Given the description of an element on the screen output the (x, y) to click on. 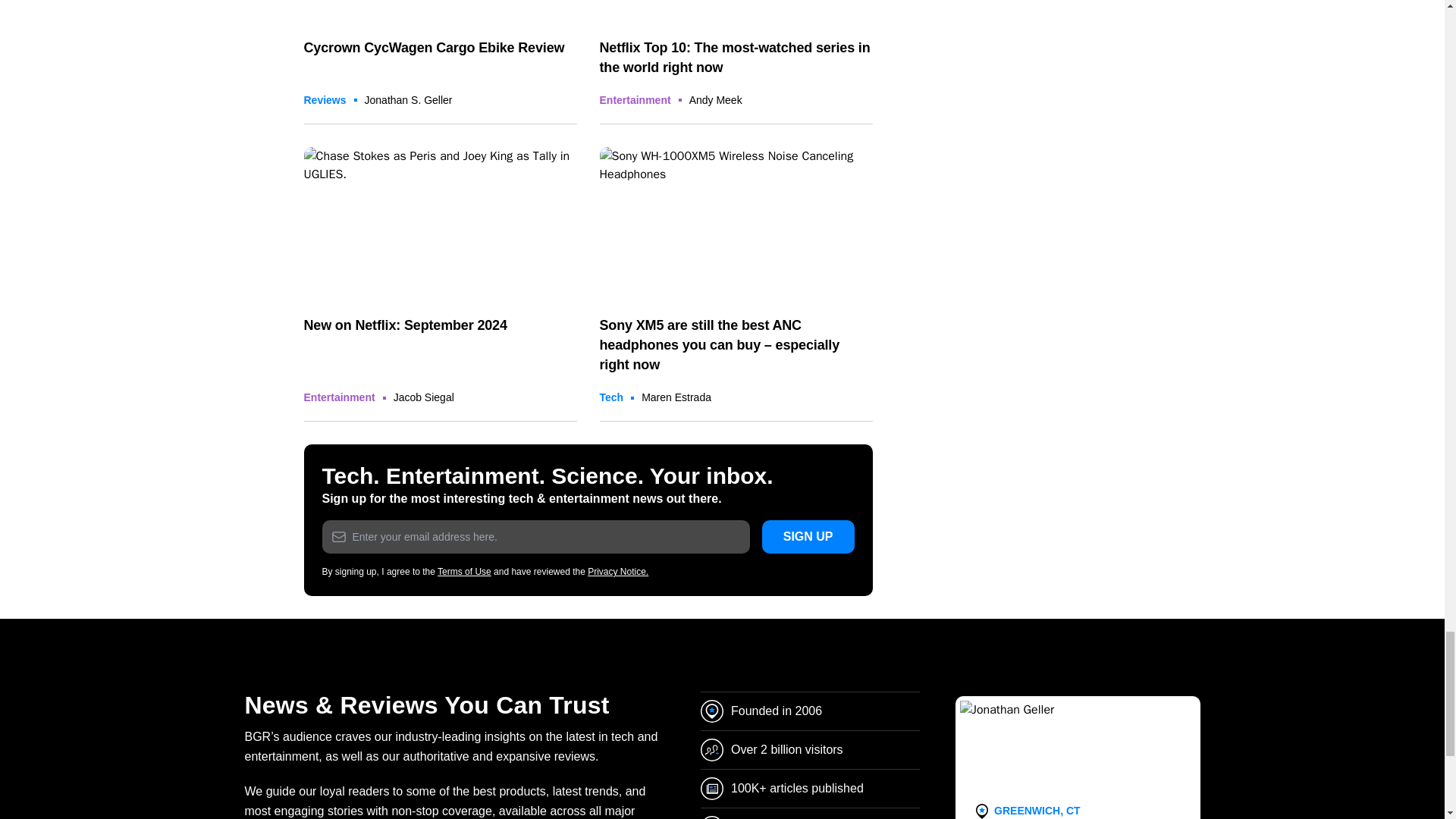
Netflix (735, 11)
Posts by Andy Meek (715, 100)
Sony WH-1000XM5 (735, 224)
Posts by Jacob Siegal (423, 397)
Posts by Jonathan S. Geller (408, 100)
Posts by Maren Estrada (676, 397)
New on Netflix (439, 224)
